Given the description of an element on the screen output the (x, y) to click on. 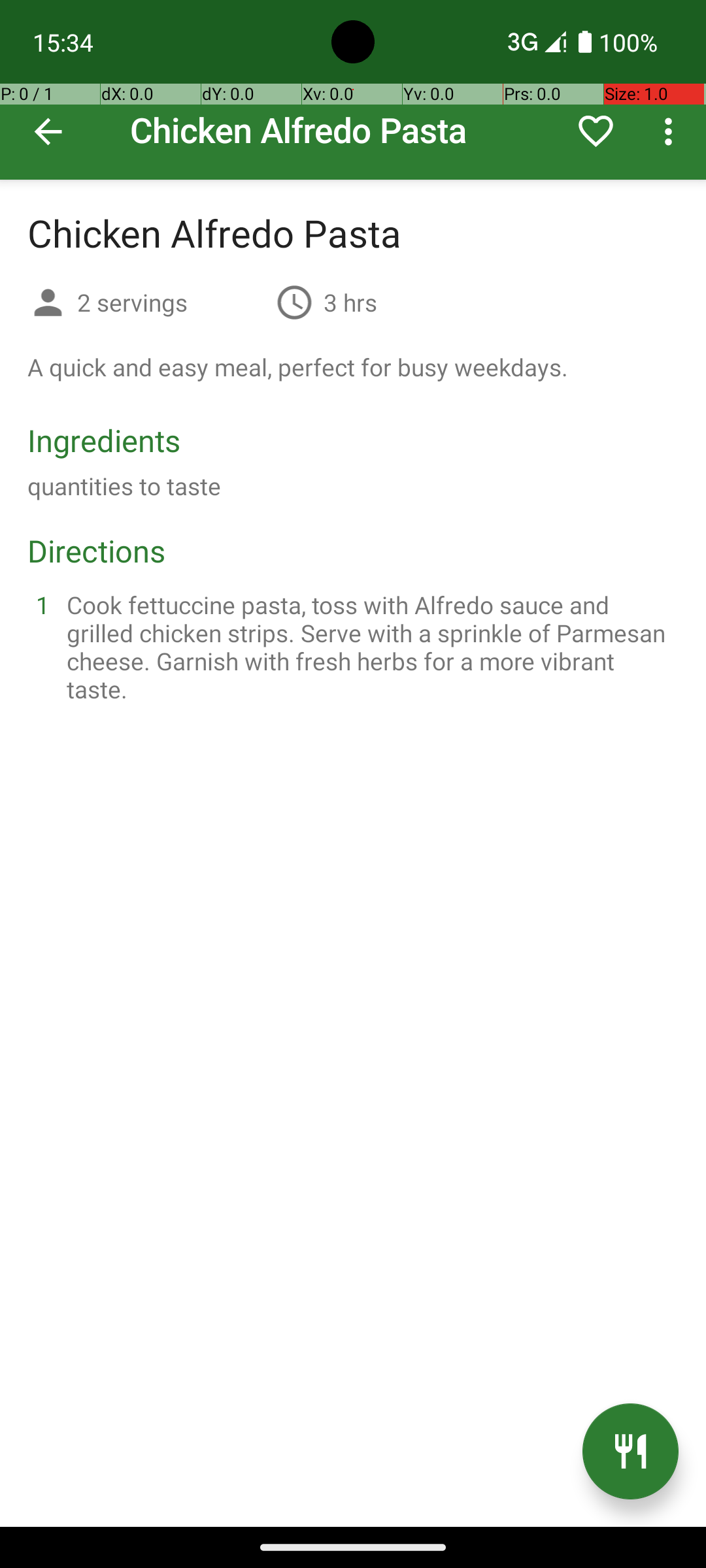
Chicken Alfredo Pasta Element type: android.widget.FrameLayout (353, 89)
Cook Element type: android.widget.ImageButton (630, 1451)
Recipe photo Element type: android.widget.ImageView (353, 89)
Mark as favorite Element type: android.widget.Button (595, 131)
Servings Element type: android.widget.ImageView (47, 303)
2 servings Element type: android.widget.TextView (170, 301)
3 hrs Element type: android.widget.TextView (350, 301)
A quick and easy meal, perfect for busy weekdays. Element type: android.widget.TextView (297, 366)
Ingredients Element type: android.widget.TextView (103, 439)
quantities to taste Element type: android.widget.TextView (123, 485)
Directions Element type: android.widget.TextView (96, 550)
Cook fettuccine pasta, toss with Alfredo sauce and grilled chicken strips. Serve with a sprinkle of Parmesan cheese. Garnish with fresh herbs for a more vibrant taste. Element type: android.widget.TextView (368, 646)
